Given the description of an element on the screen output the (x, y) to click on. 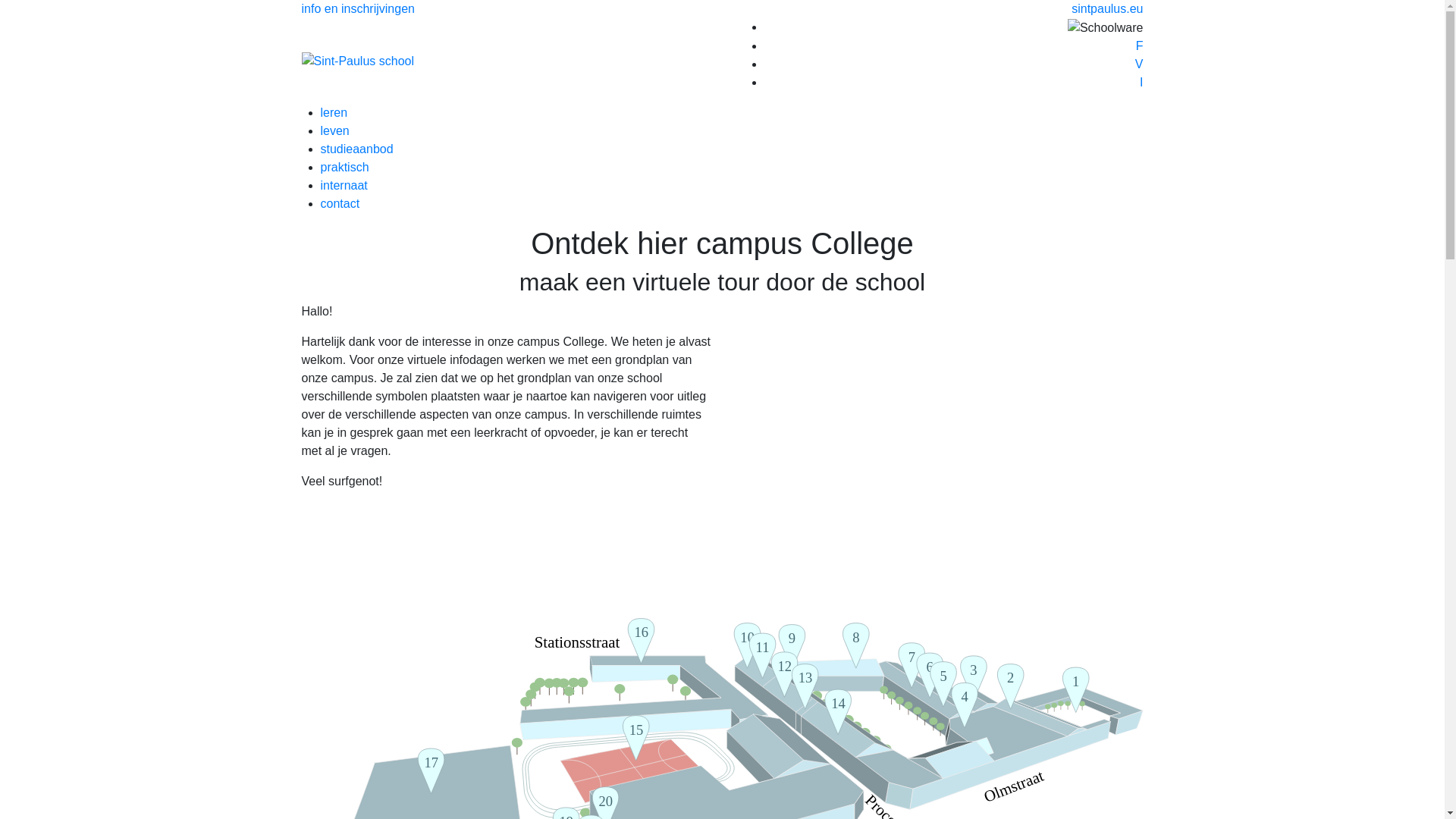
praktisch Element type: text (344, 166)
F Element type: text (1139, 45)
contact Element type: text (339, 203)
sintpaulus.eu Element type: text (1106, 8)
studieaanbod Element type: text (356, 148)
leren Element type: text (333, 112)
Infodag Element type: hover (1047, 438)
V Element type: text (1139, 63)
info en inschrijvingen Element type: text (357, 8)
leven Element type: text (334, 130)
internaat Element type: text (343, 184)
I Element type: text (1140, 81)
